Given the description of an element on the screen output the (x, y) to click on. 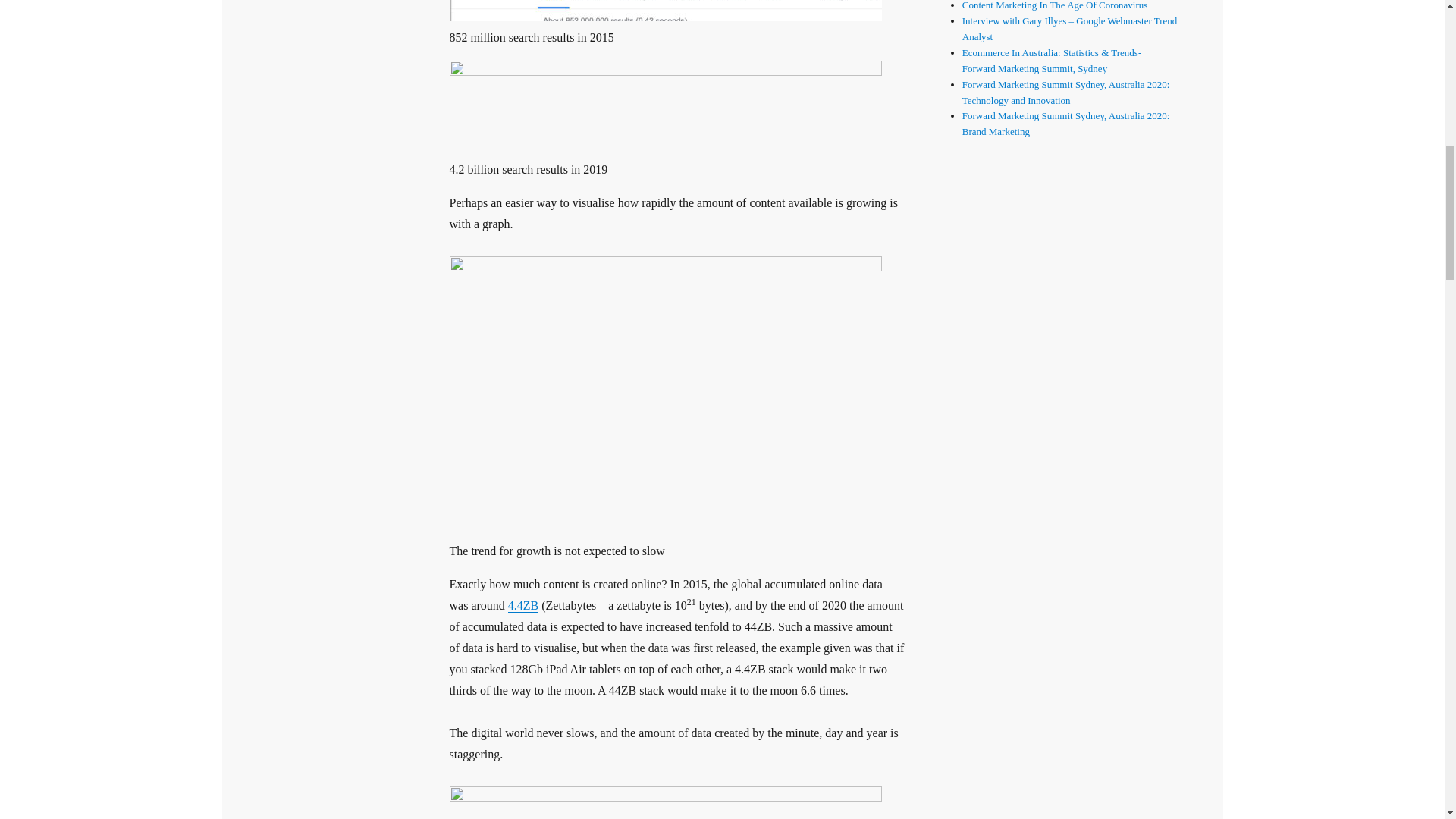
4.4ZB (523, 604)
